Given the description of an element on the screen output the (x, y) to click on. 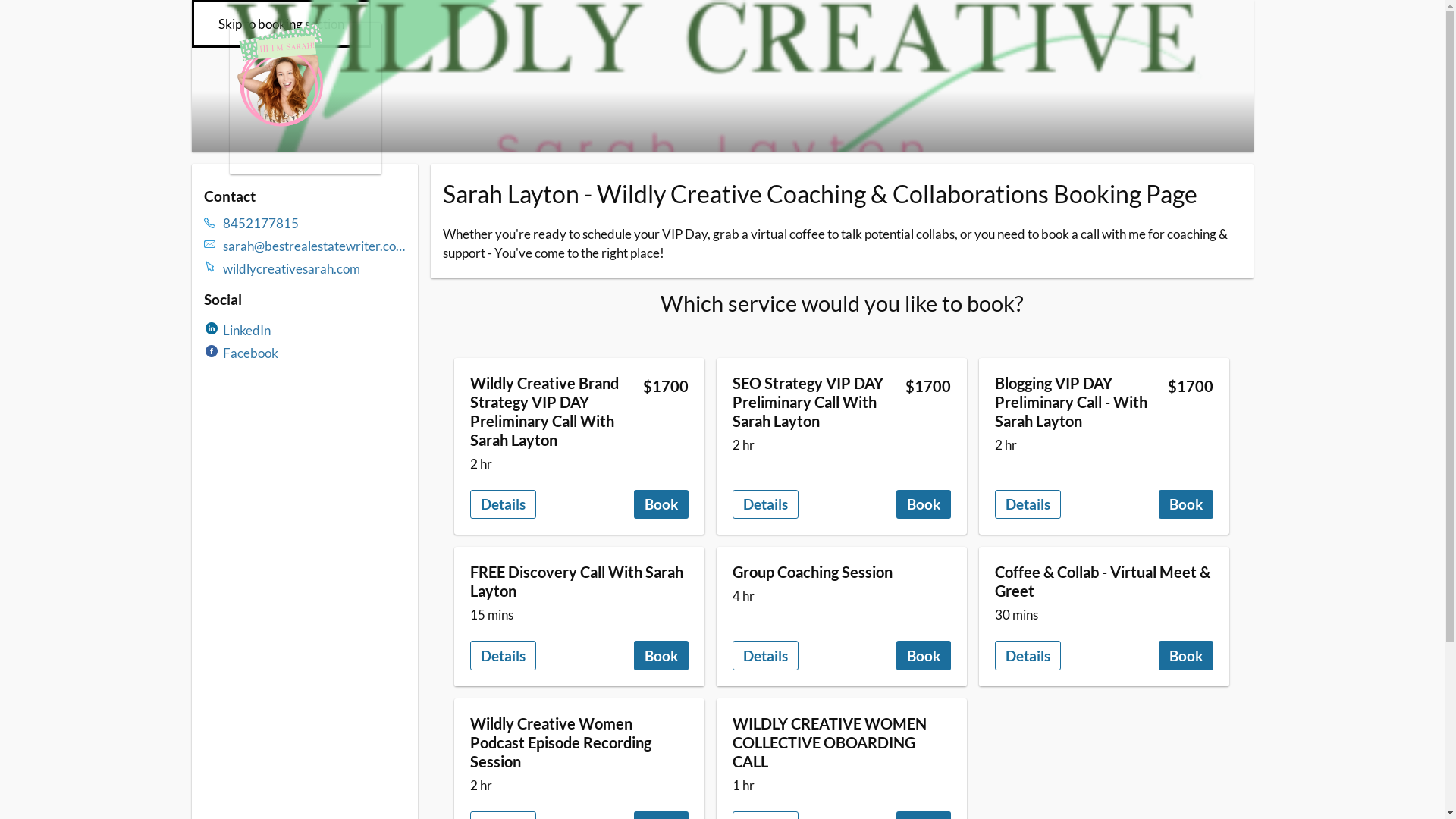
LinkedIn Element type: text (246, 330)
Skip to booking section Element type: text (280, 23)
8452177815 Element type: text (314, 222)
sarah@bestrealestatewriter.com Element type: text (314, 245)
wildlycreativesarah.com Element type: text (314, 268)
Facebook Element type: text (250, 352)
